Given the description of an element on the screen output the (x, y) to click on. 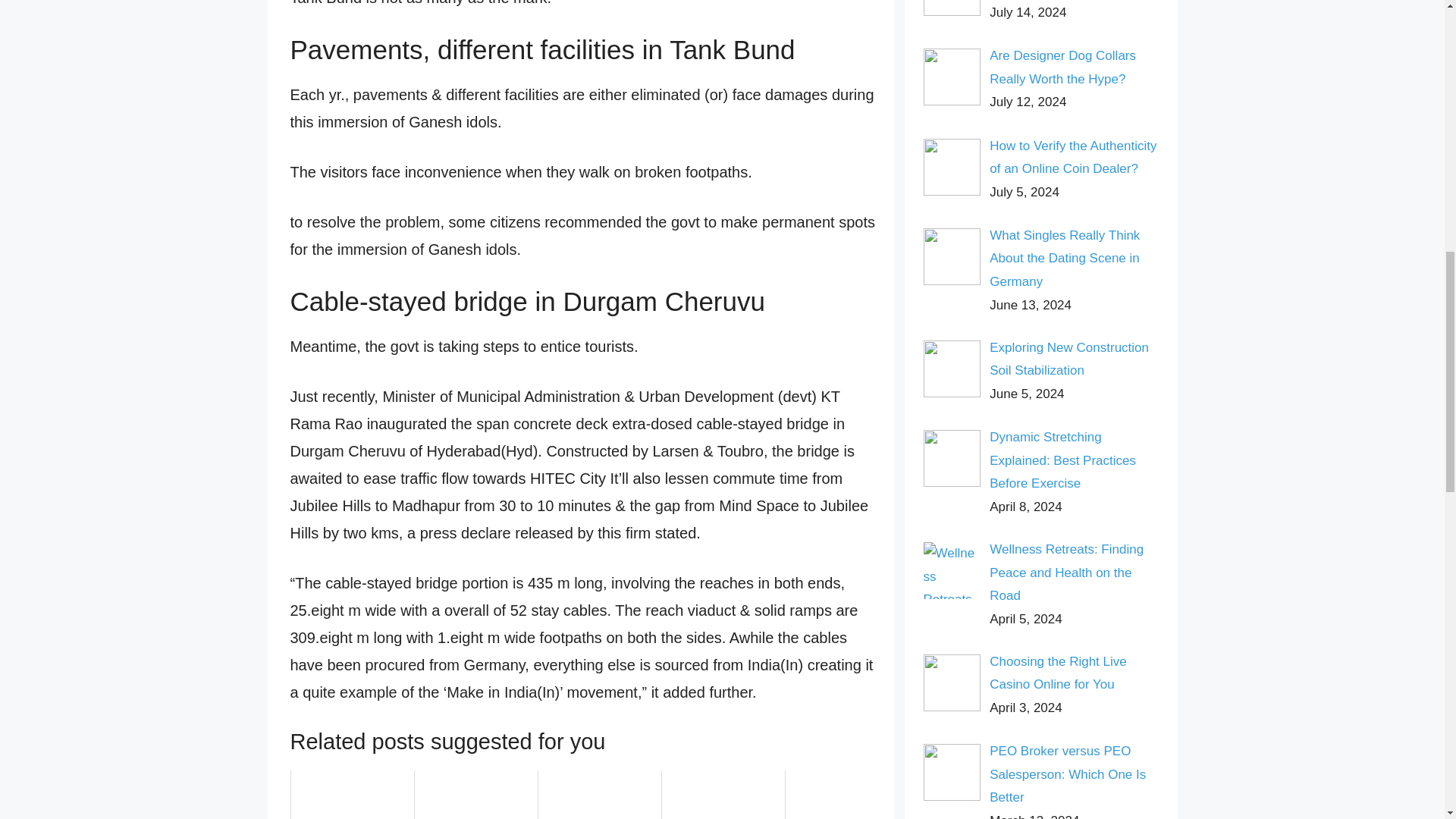
Dynamic Stretching Explained: Best Practices Before Exercise (1062, 459)
CCMB Study causes panic; stirs debate among doctors (475, 794)
PEO Broker versus PEO Salesperson: Which One Is Better (1067, 773)
How to Verify the Authenticity of an Online Coin Dealer? (1073, 157)
Are Designer Dog Collars Really Worth the Hype? (1062, 67)
Choosing the Right Live Casino Online for You (1058, 673)
Wellness Retreats: Finding Peace and Health on the Road (1066, 572)
What Singles Really Think About the Dating Scene in Germany (1065, 258)
3 banjaras arrested for robbing several houses in Kolkata (351, 794)
Scroll back to top (1406, 720)
Exploring New Construction Soil Stabilization (1069, 359)
